Given the description of an element on the screen output the (x, y) to click on. 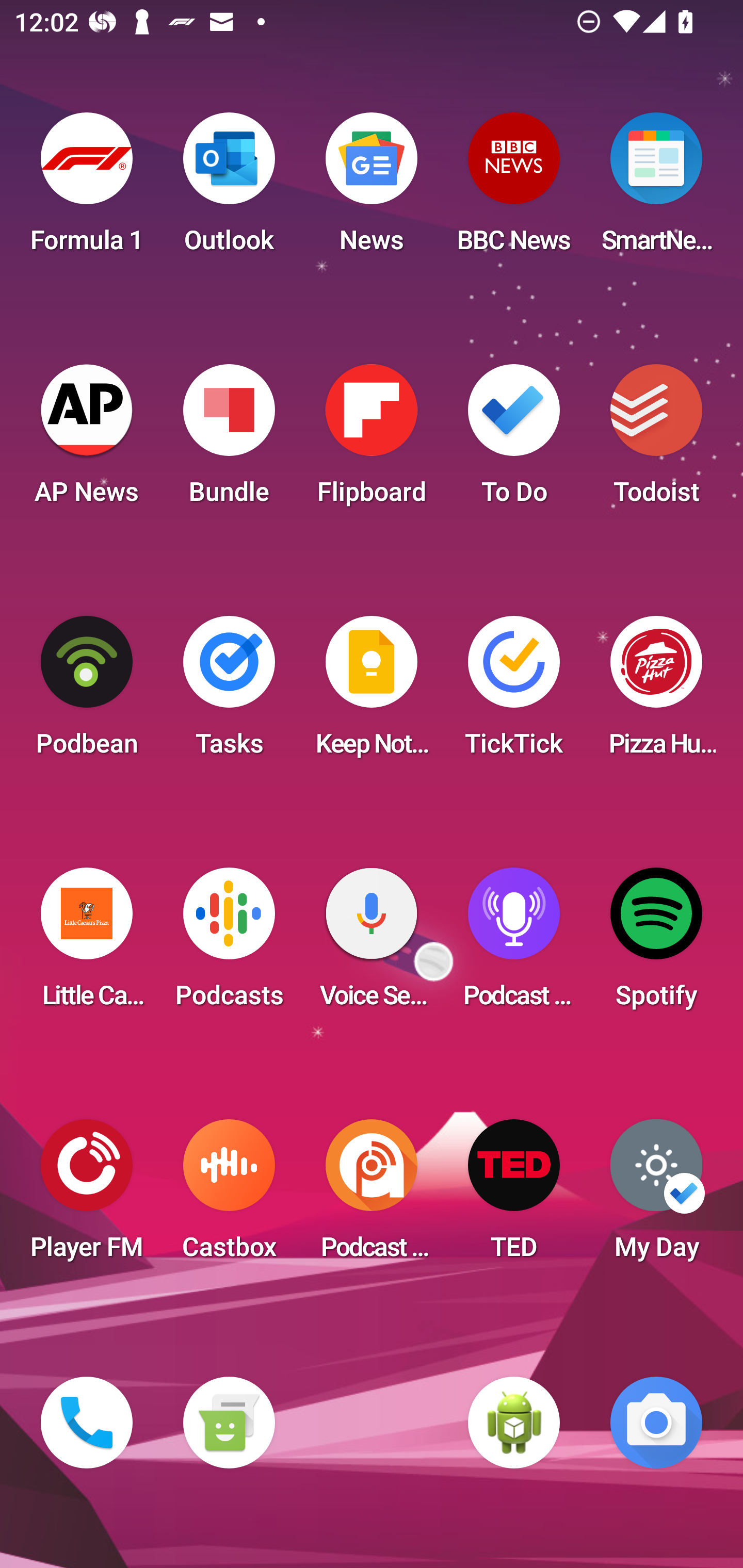
Formula 1 (86, 188)
Outlook (228, 188)
News (371, 188)
BBC News (513, 188)
SmartNews (656, 188)
AP News (86, 440)
Bundle (228, 440)
Flipboard (371, 440)
To Do (513, 440)
Todoist (656, 440)
Podbean (86, 692)
Tasks (228, 692)
Keep Notes (371, 692)
TickTick (513, 692)
Pizza Hut HK & Macau (656, 692)
Little Caesars Pizza (86, 943)
Podcasts (228, 943)
Voice Search (371, 943)
Podcast Player (513, 943)
Spotify (656, 943)
Player FM (86, 1195)
Castbox (228, 1195)
Podcast Addict (371, 1195)
TED (513, 1195)
My Day (656, 1195)
Phone (86, 1422)
Messaging (228, 1422)
WebView Browser Tester (513, 1422)
Camera (656, 1422)
